Given the description of an element on the screen output the (x, y) to click on. 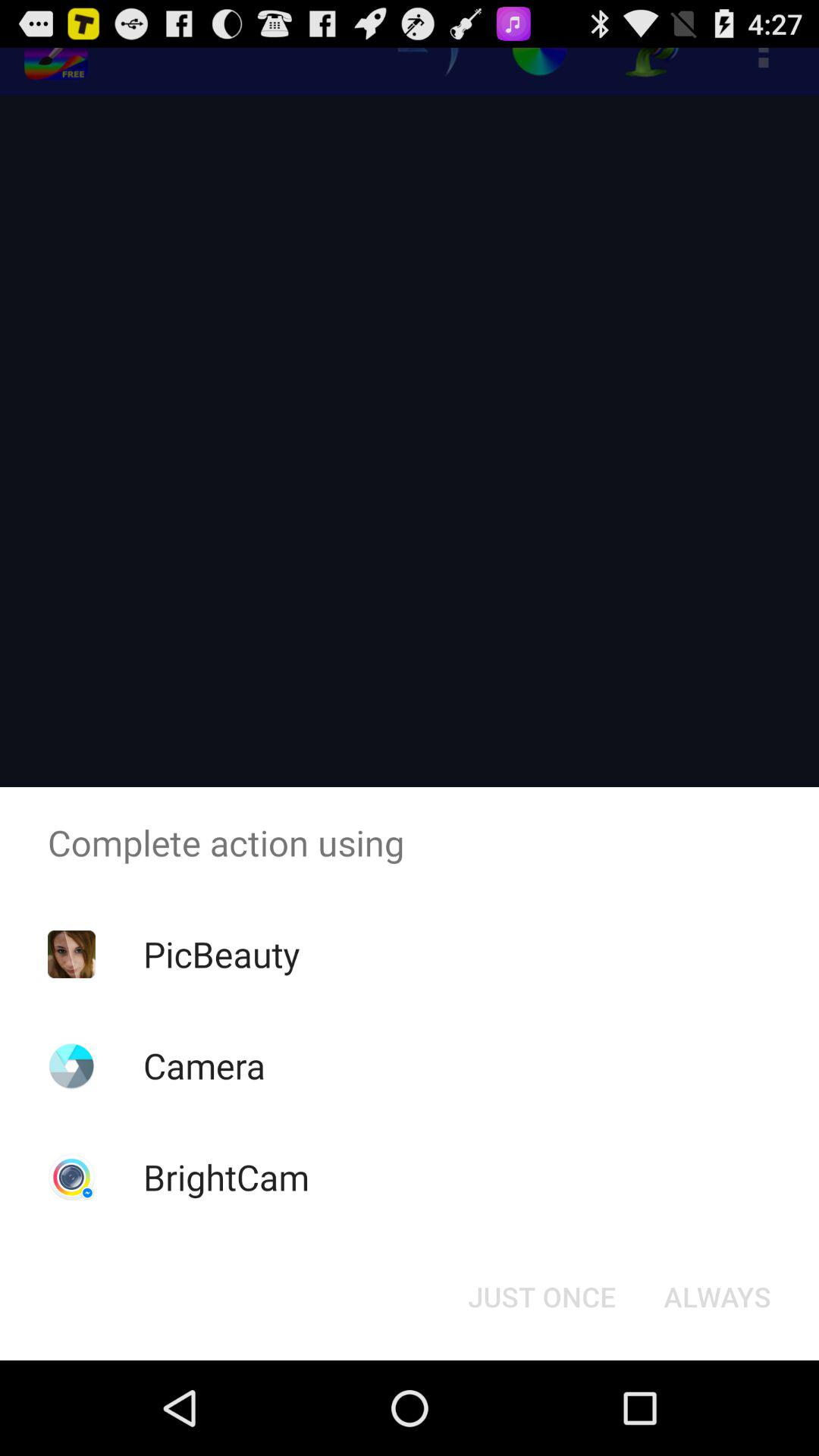
open the item to the left of always icon (541, 1296)
